Given the description of an element on the screen output the (x, y) to click on. 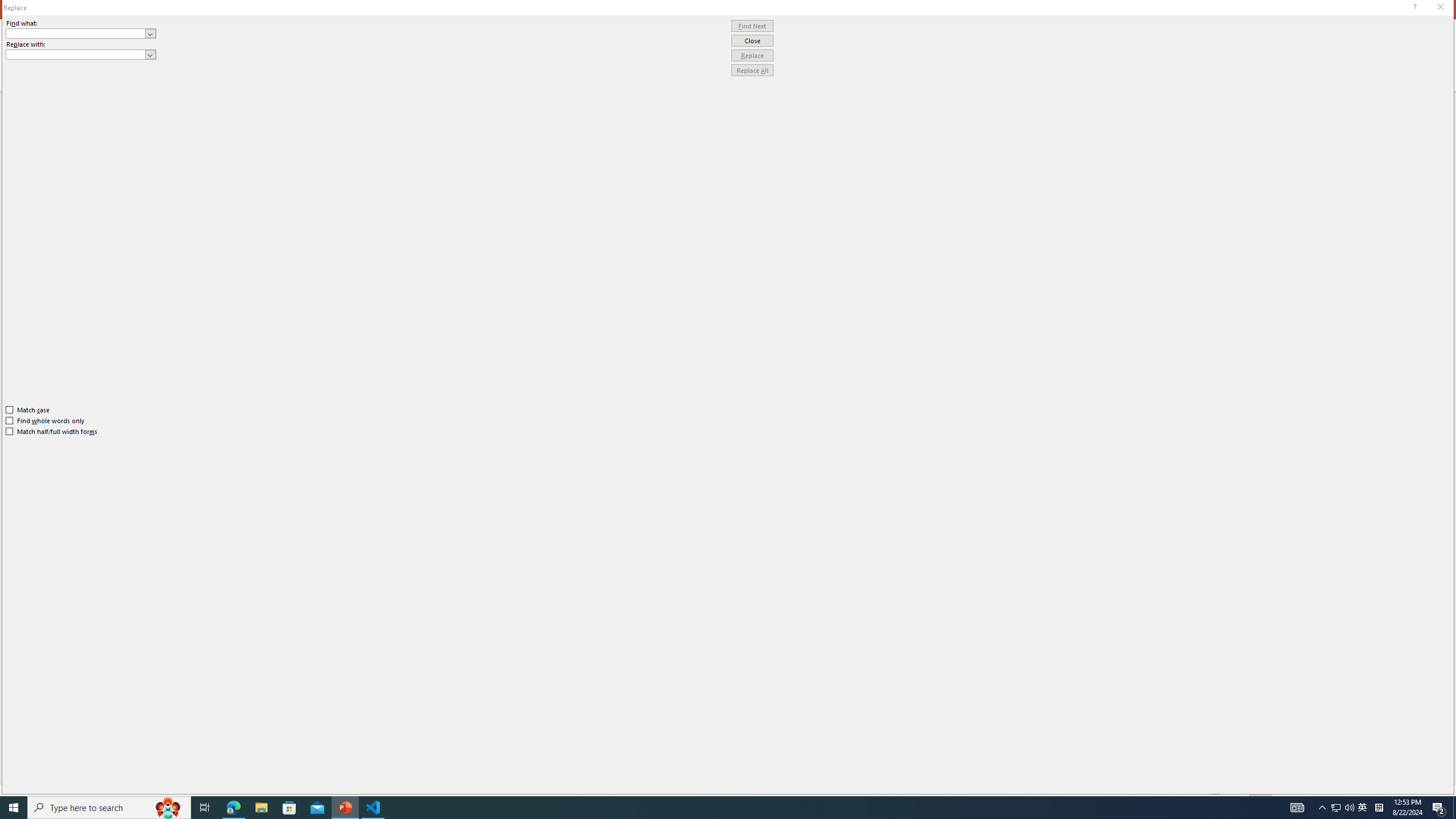
Find Next (752, 25)
